Given the description of an element on the screen output the (x, y) to click on. 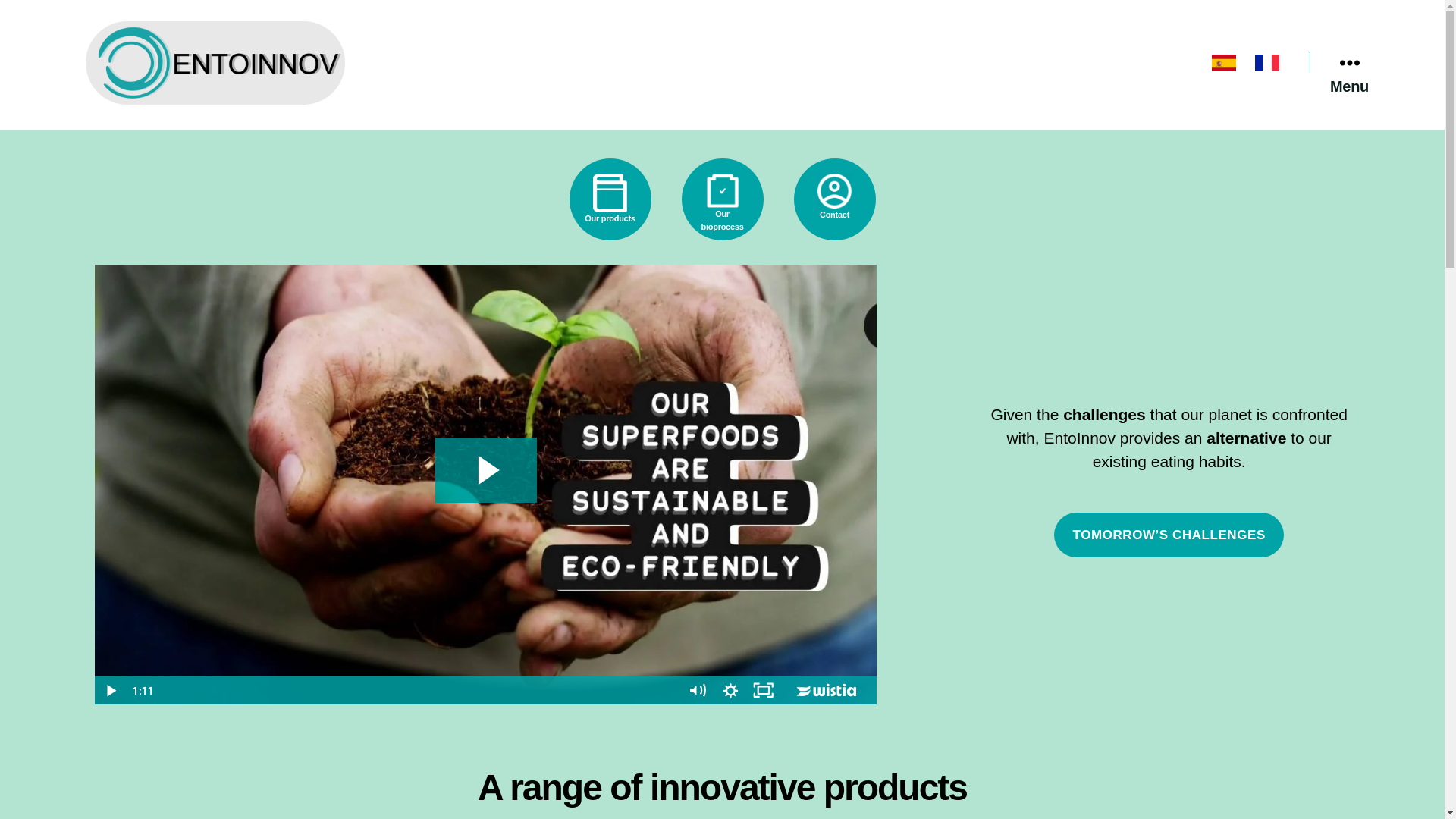
Mute (697, 690)
Menu (1348, 62)
Play Video (111, 690)
Our bioprocess (721, 199)
Show settings menu (730, 690)
Contact (833, 199)
Wistia Logo -- Learn More (827, 690)
Our products (609, 199)
Fullscreen (761, 690)
